Given the description of an element on the screen output the (x, y) to click on. 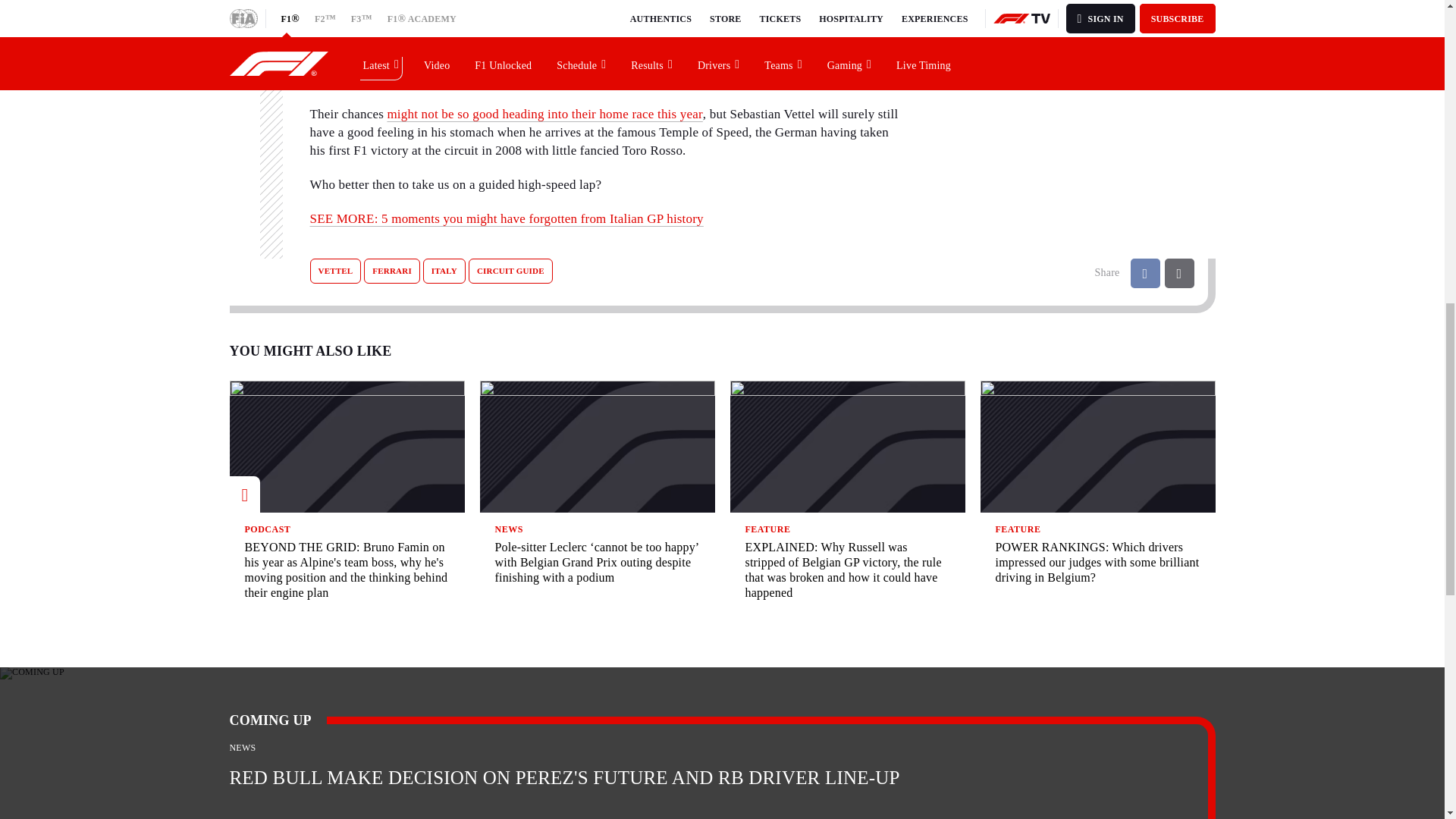
might not be so good heading into their home race this year (544, 114)
